Given the description of an element on the screen output the (x, y) to click on. 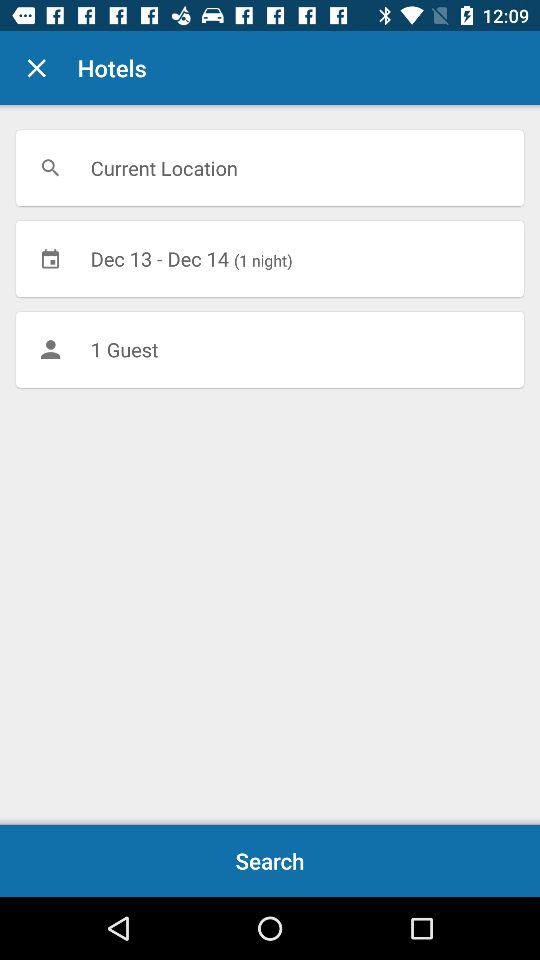
open icon below current location (269, 258)
